Given the description of an element on the screen output the (x, y) to click on. 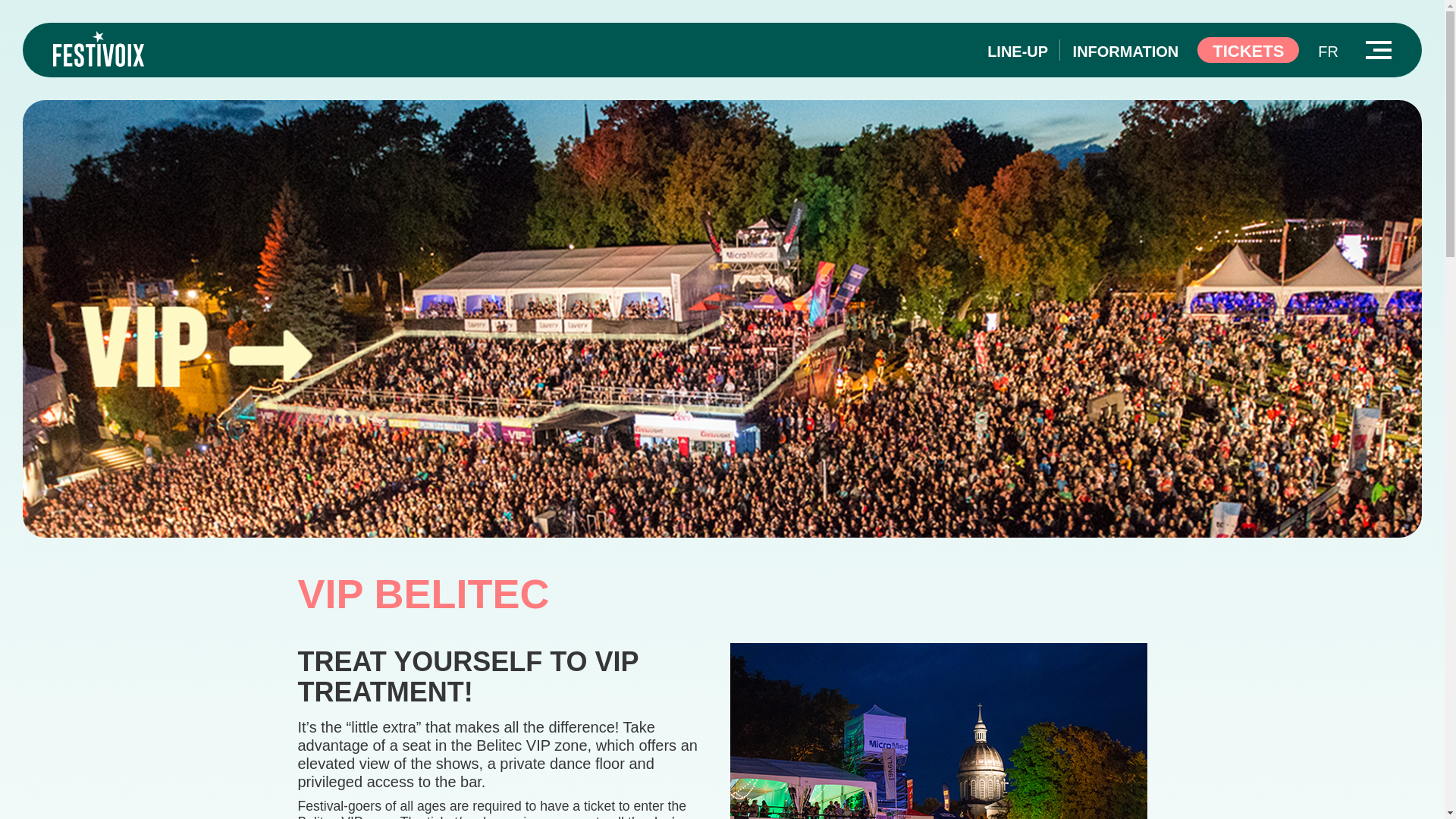
LINE-UP (1017, 51)
FR (1327, 51)
TICKETS (1247, 49)
FR (1327, 51)
INFORMATION (1126, 51)
